Given the description of an element on the screen output the (x, y) to click on. 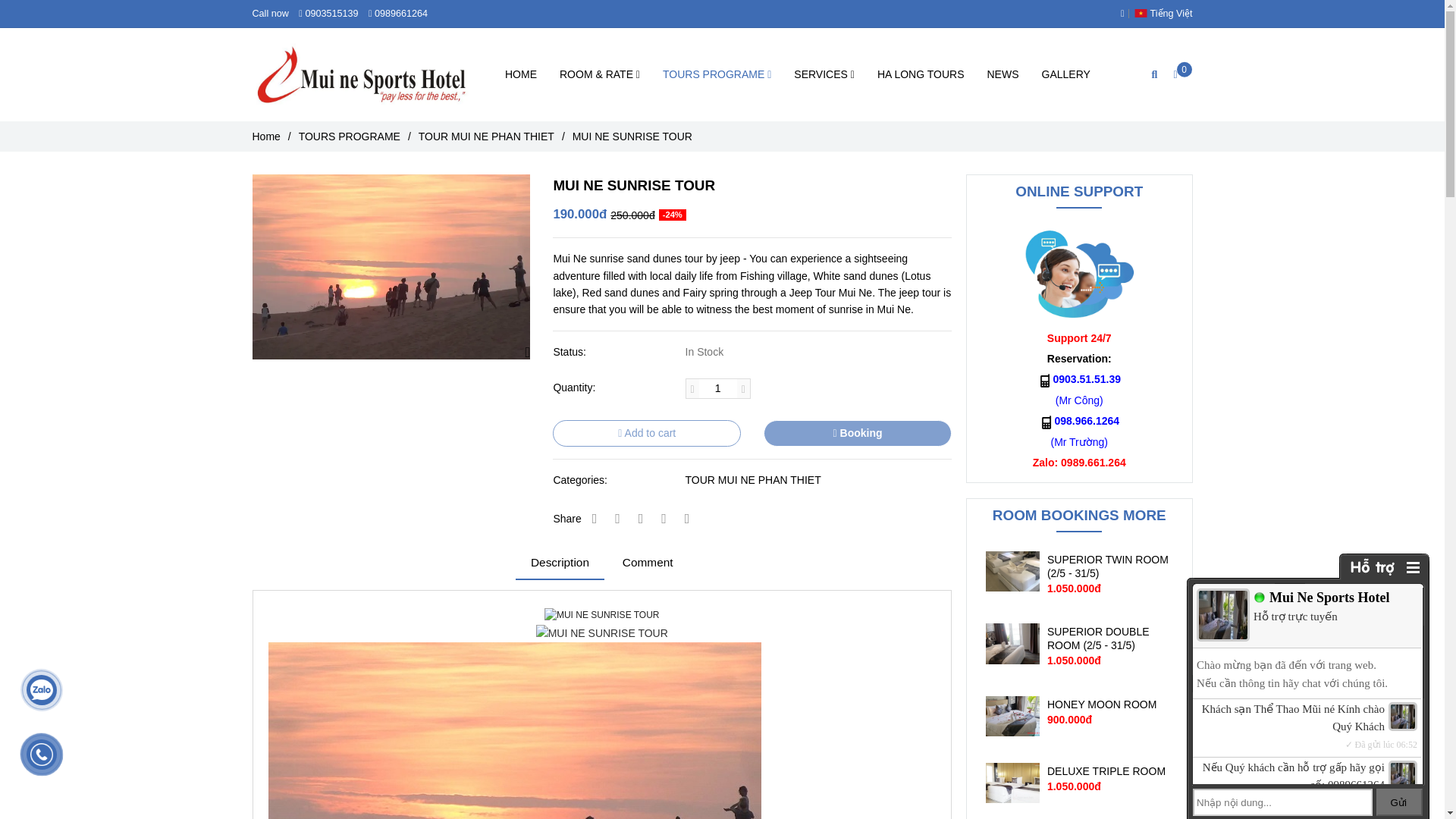
0 (1182, 73)
HONEY MOON ROOM (1109, 704)
Muine sunrise Tour (514, 730)
TOURS PROGRAME (716, 74)
0903515139 (333, 13)
SERVICES (824, 74)
GALLERY (1064, 74)
HA LONG TOURS (920, 74)
NEWS (1002, 74)
HOME (520, 74)
DELUXE TRIPLE ROOM (1109, 771)
0989661264 (401, 13)
1 (717, 388)
